Given the description of an element on the screen output the (x, y) to click on. 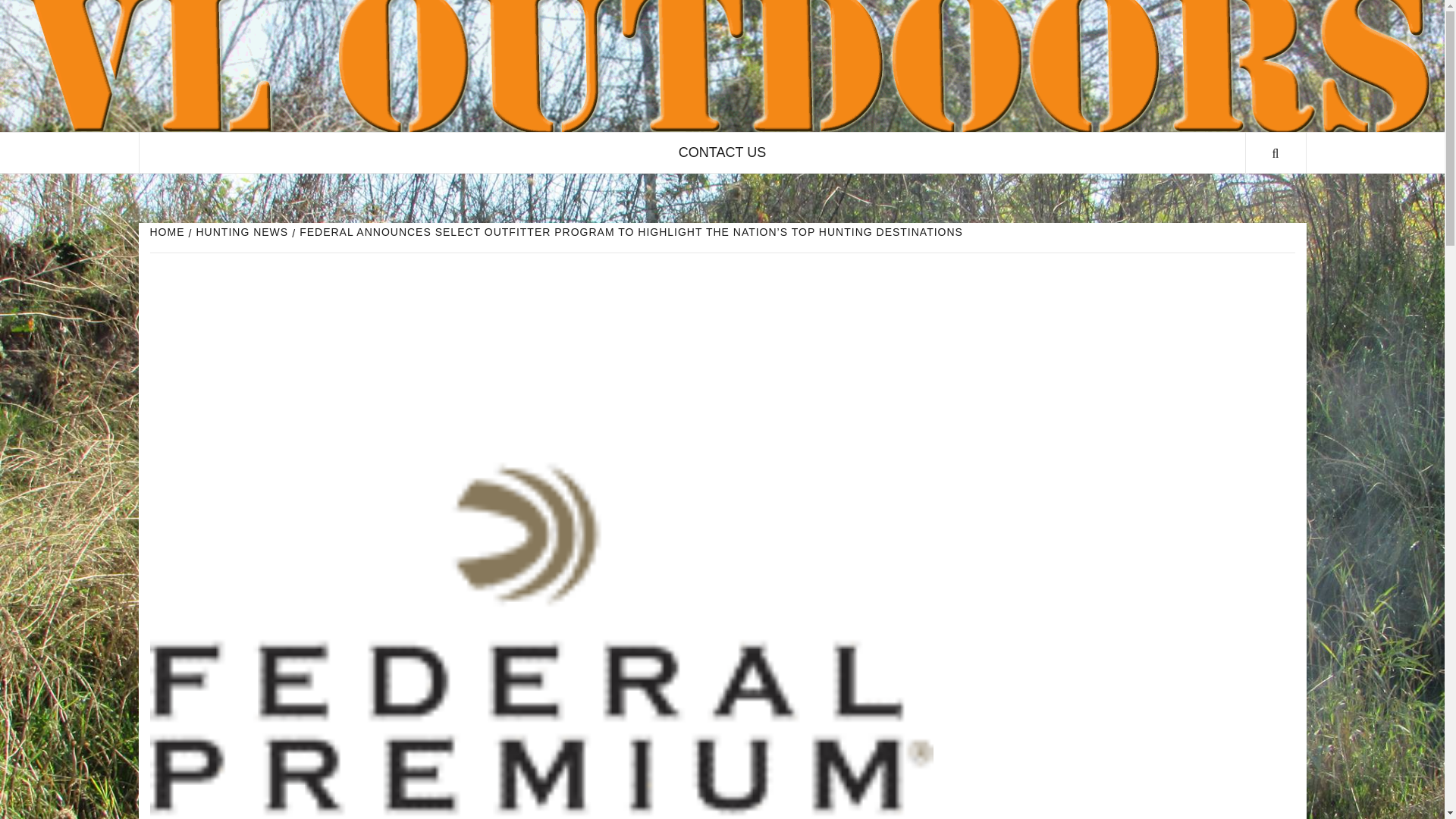
HUNTING NEWS (239, 232)
CONTACT US (721, 152)
HOME (169, 232)
